Given the description of an element on the screen output the (x, y) to click on. 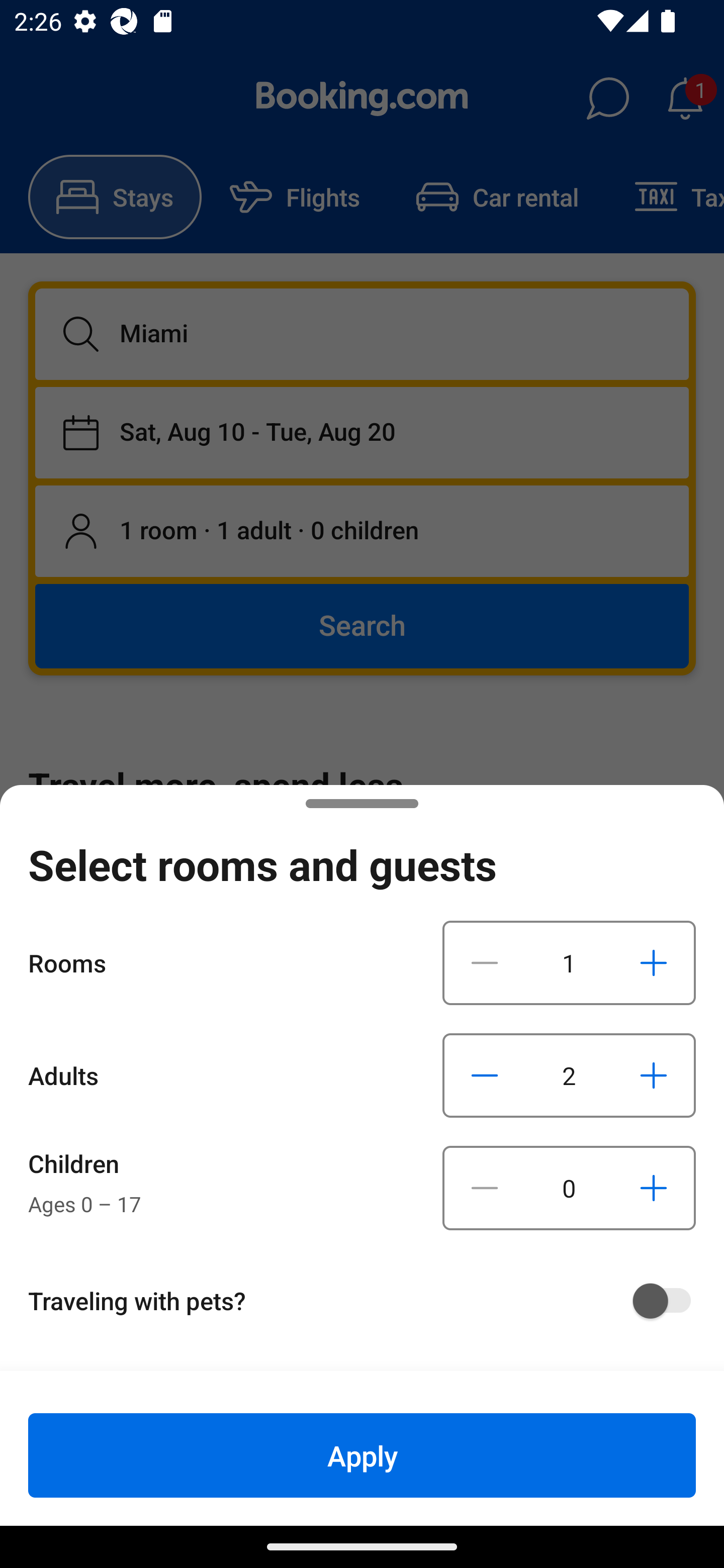
Decrease (484, 962)
Increase (653, 962)
Decrease (484, 1075)
Increase (653, 1075)
Decrease (484, 1188)
Increase (653, 1188)
Traveling with pets? (369, 1300)
Apply (361, 1454)
